Given the description of an element on the screen output the (x, y) to click on. 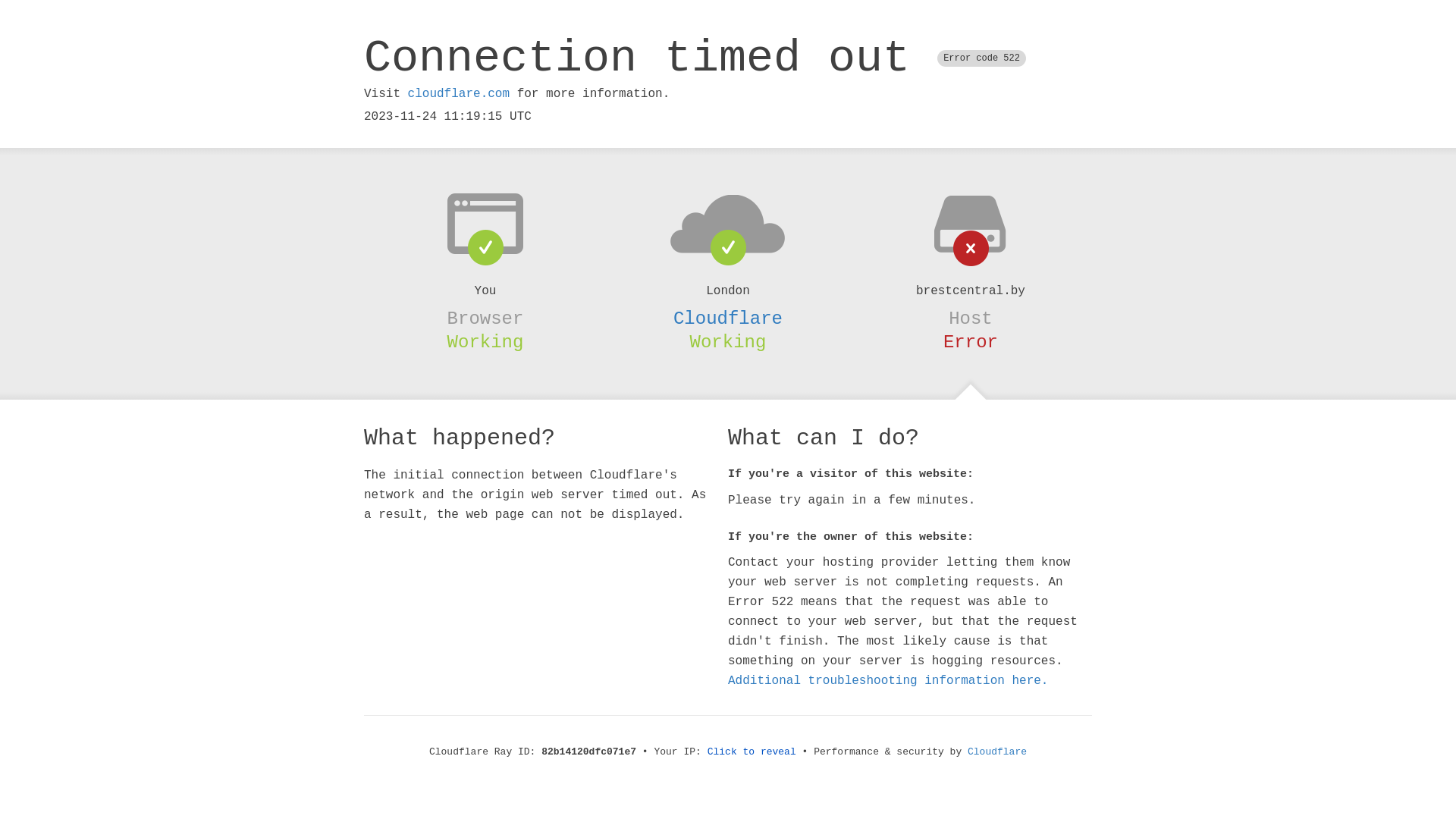
Click to reveal Element type: text (751, 751)
Additional troubleshooting information here. Element type: text (888, 680)
Cloudflare Element type: text (996, 751)
Cloudflare Element type: text (727, 318)
cloudflare.com Element type: text (458, 93)
